Given the description of an element on the screen output the (x, y) to click on. 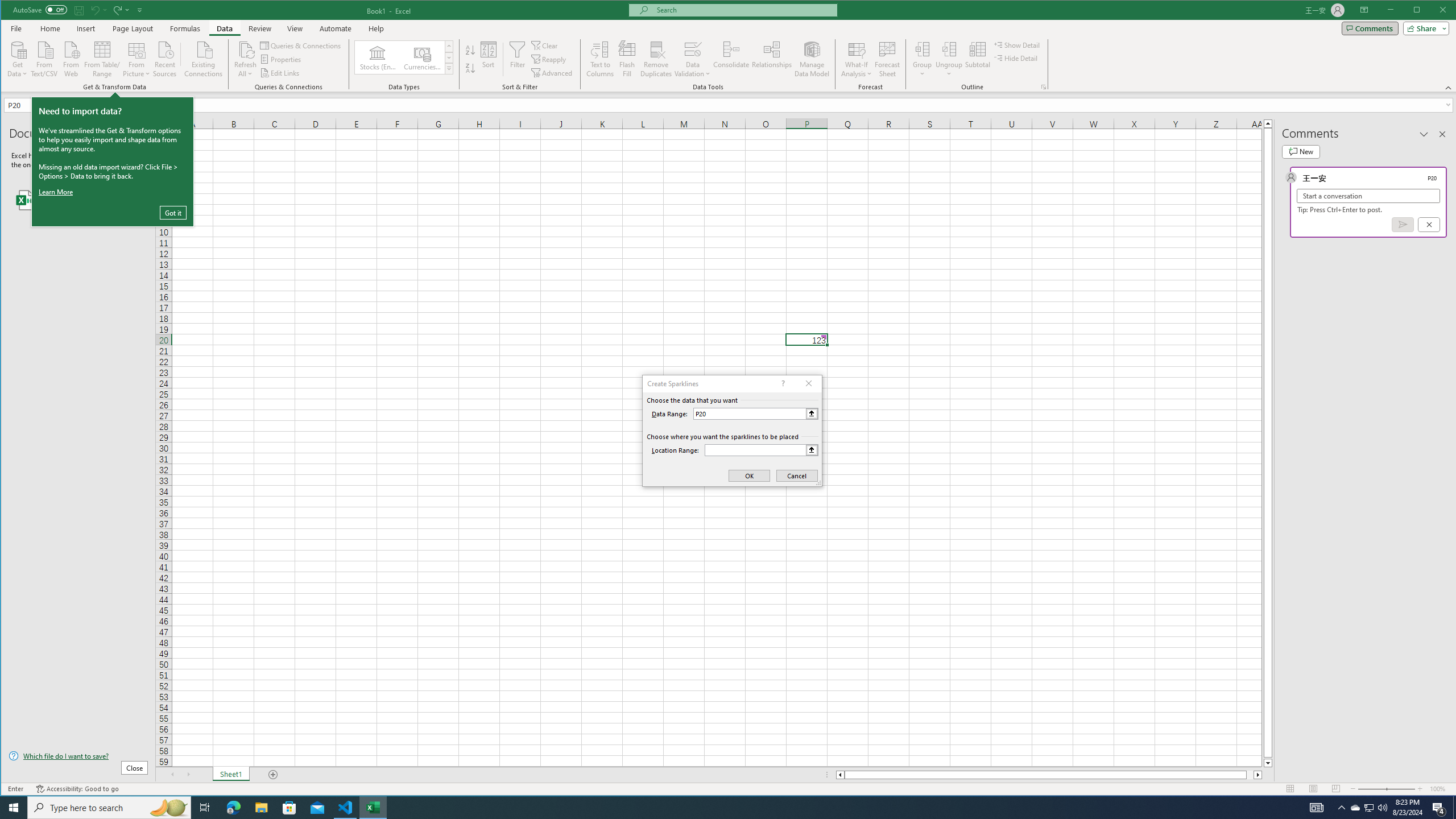
Share (1423, 27)
Group... (922, 59)
Group... (922, 48)
Which file do I want to save? (78, 755)
Name Box (27, 104)
Relationships (772, 59)
System (11, 10)
Queries & Connections (301, 45)
Data Validation... (691, 59)
AutoSave (39, 9)
Review (259, 28)
What-If Analysis (856, 59)
Accessibility Checker Accessibility: Good to go (77, 788)
Post comment (Ctrl + Enter) (1402, 224)
Minimize (1419, 11)
